Given the description of an element on the screen output the (x, y) to click on. 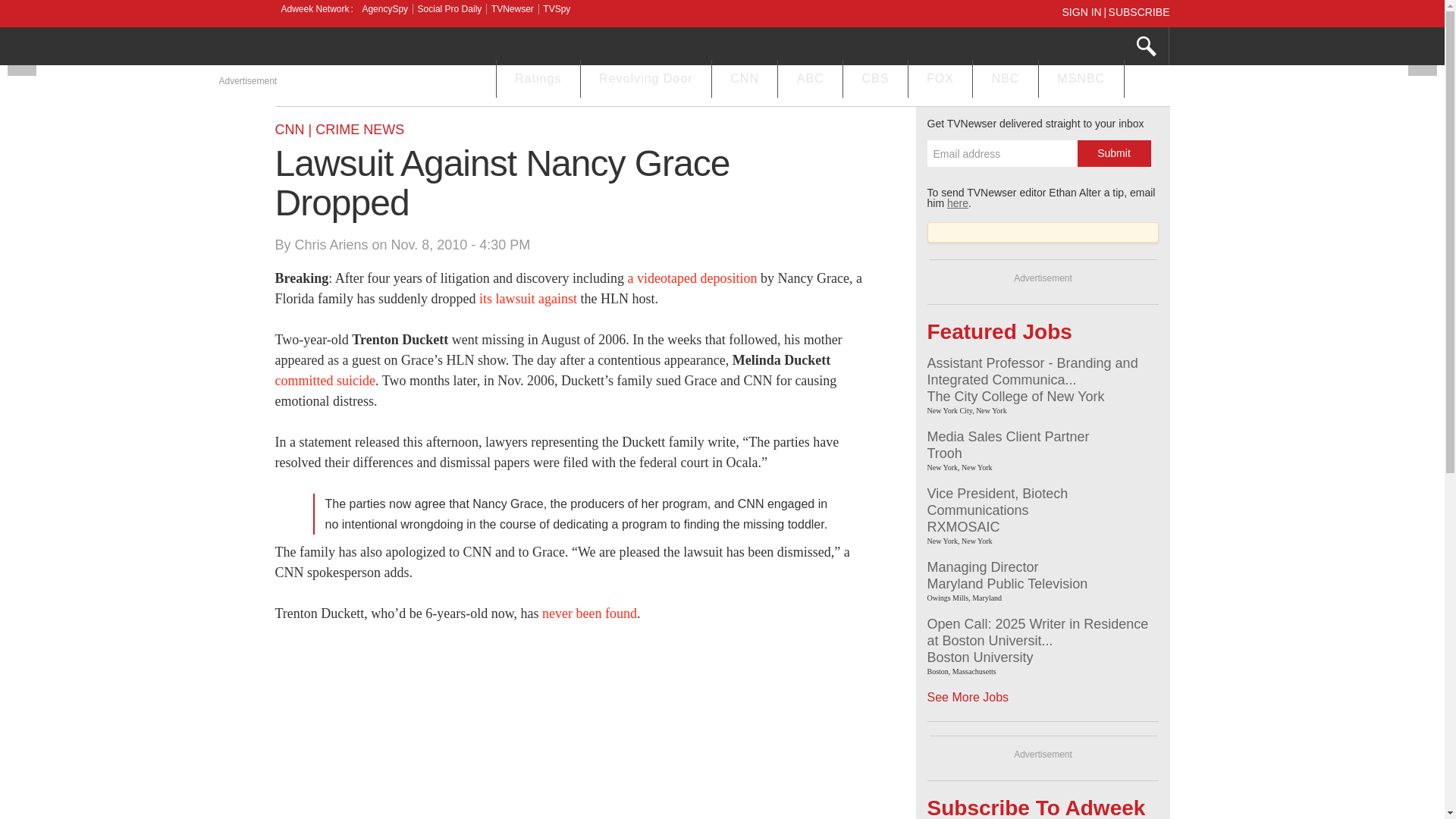
Ratings (537, 80)
NBC (1005, 80)
Adweek Network (316, 9)
ABC (810, 80)
Covering national television news (388, 47)
AgencySpy (384, 9)
TVSpy (556, 9)
MSNBC (1081, 80)
CNN (744, 80)
FOX (940, 80)
Submit (1113, 153)
Revolving Door (645, 80)
CBS (875, 80)
TVNewser (513, 9)
SIGN IN (1084, 11)
